Given the description of an element on the screen output the (x, y) to click on. 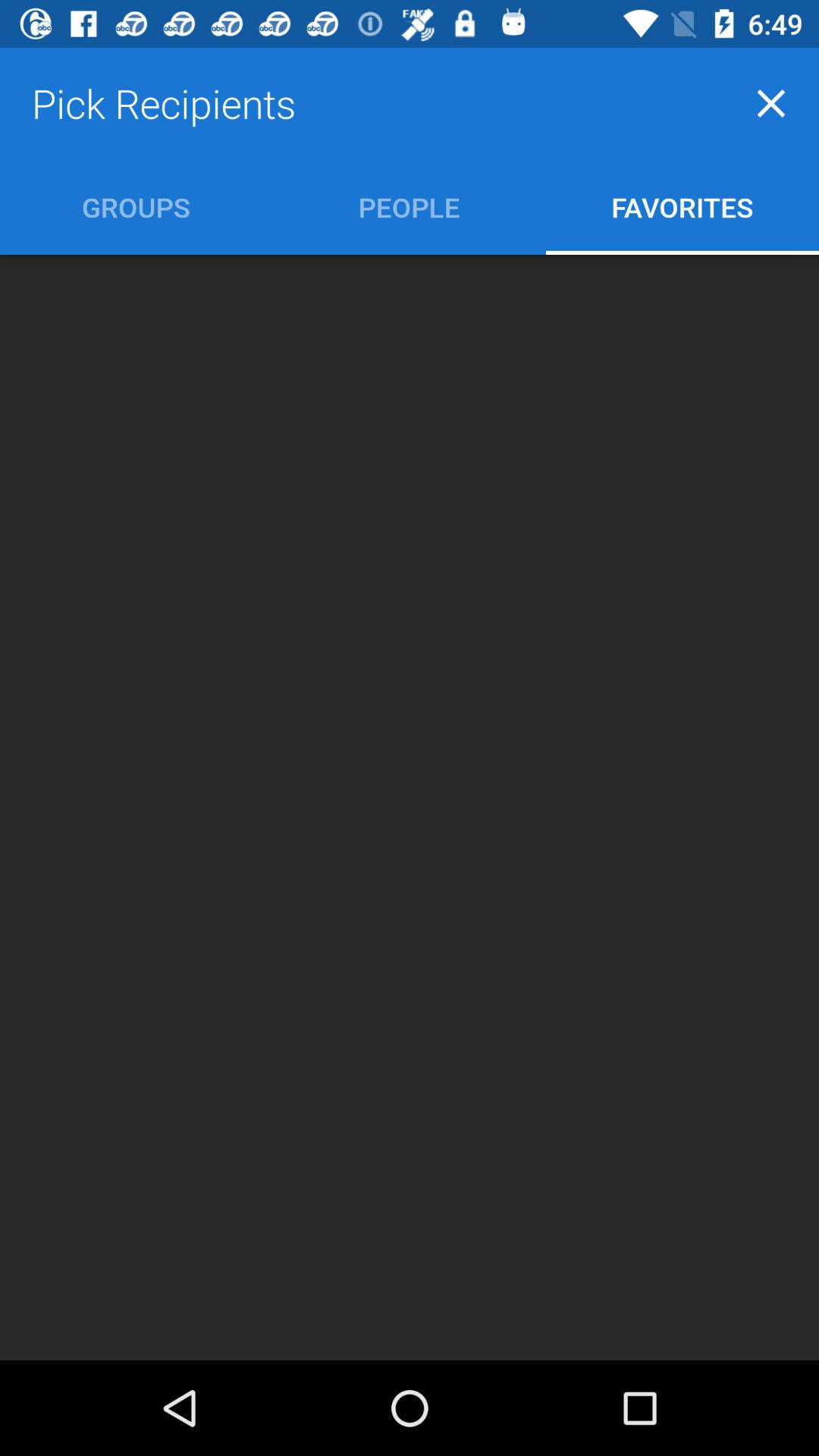
launch people icon (409, 206)
